Given the description of an element on the screen output the (x, y) to click on. 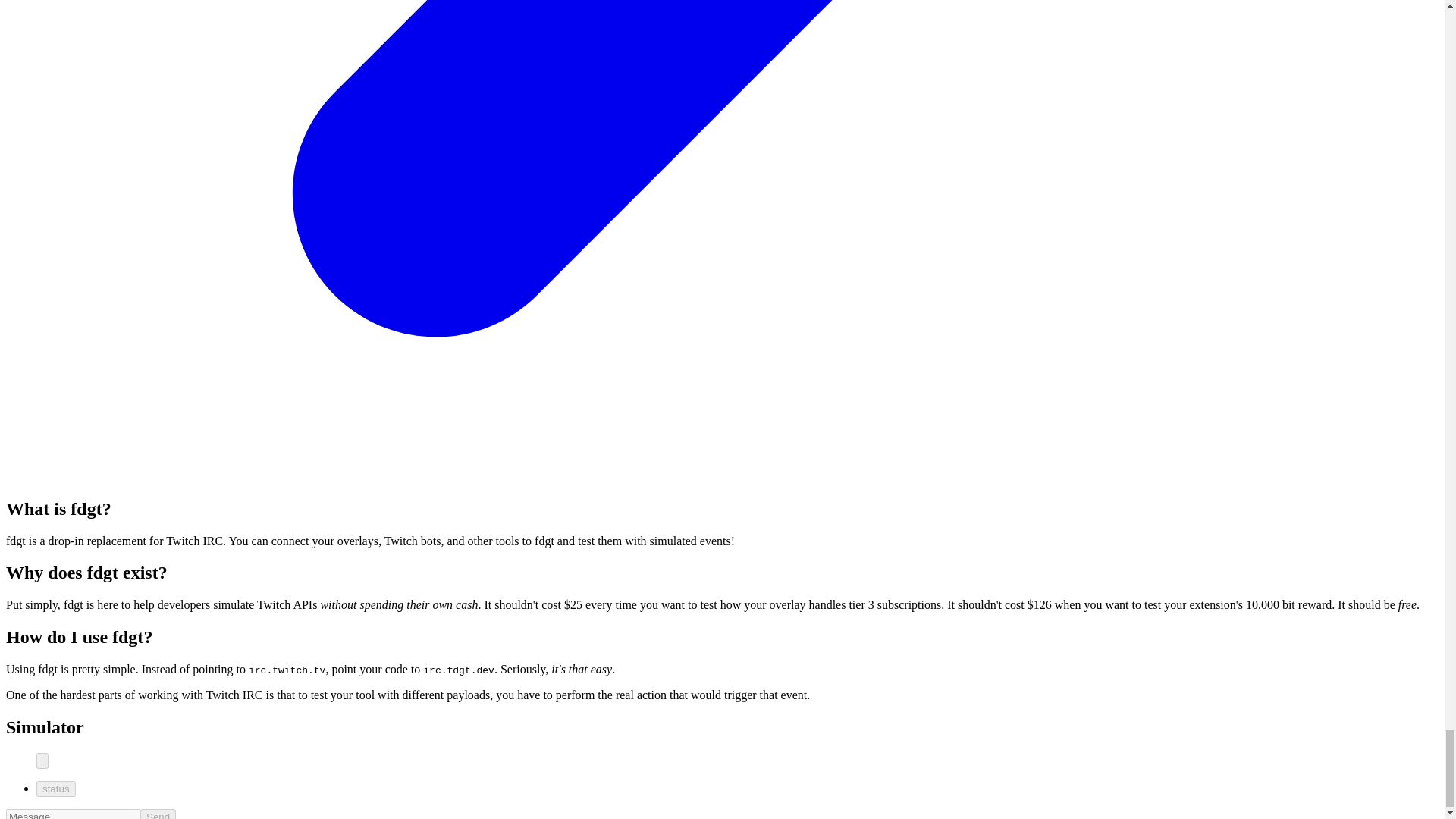
status (55, 788)
status (55, 788)
